Given the description of an element on the screen output the (x, y) to click on. 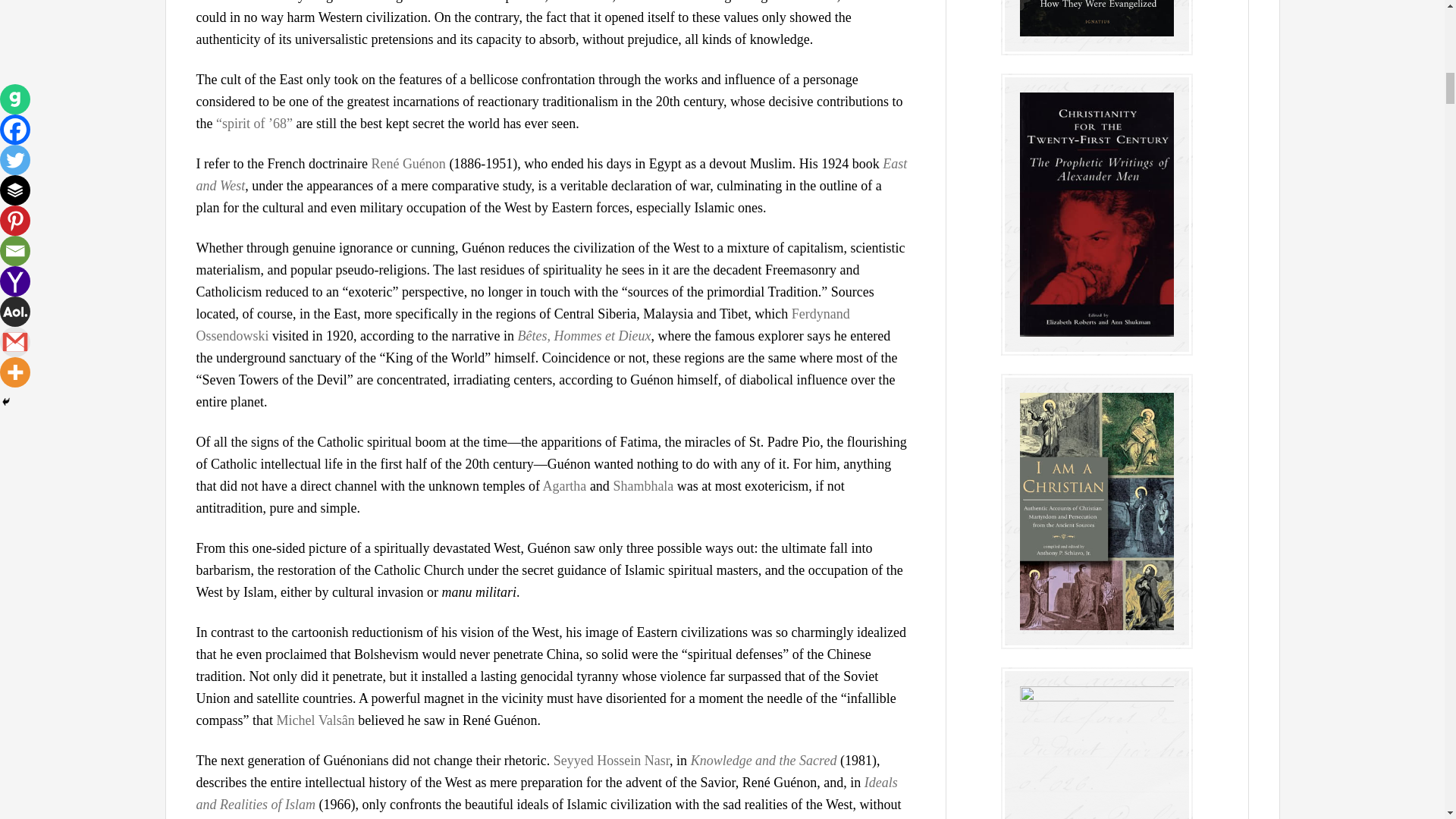
Shambhala (642, 485)
Agartha (563, 485)
Seyyed Hossein Nasr (611, 760)
Ideals and Realities of Islam (545, 793)
Ferdynand Ossendowski (521, 324)
Knowledge and the Sacred (763, 760)
East and West (551, 174)
